Given the description of an element on the screen output the (x, y) to click on. 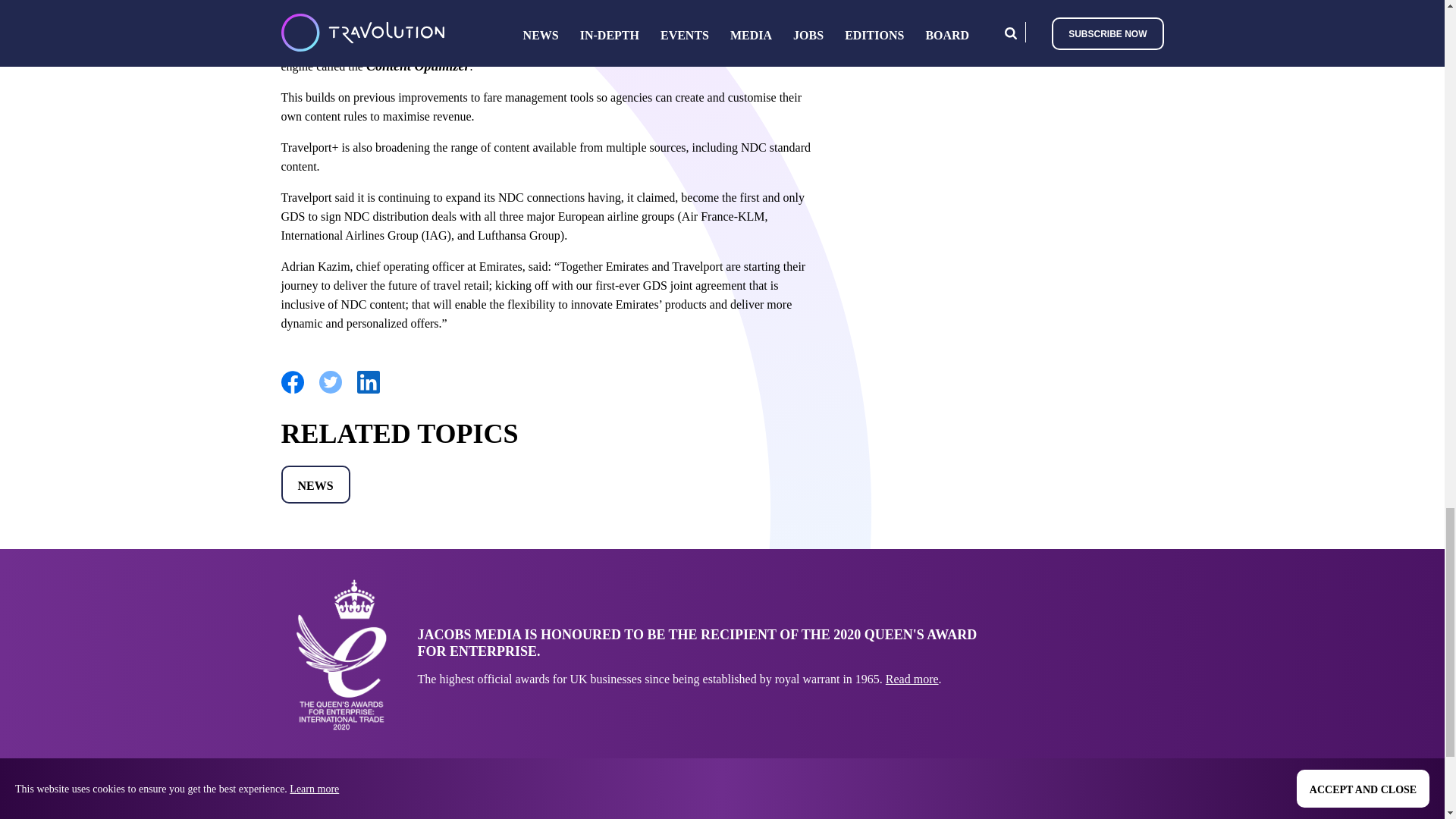
Share on Twitter (329, 390)
Share on LinkedIn (367, 390)
Share on Facebook (291, 390)
